Given the description of an element on the screen output the (x, y) to click on. 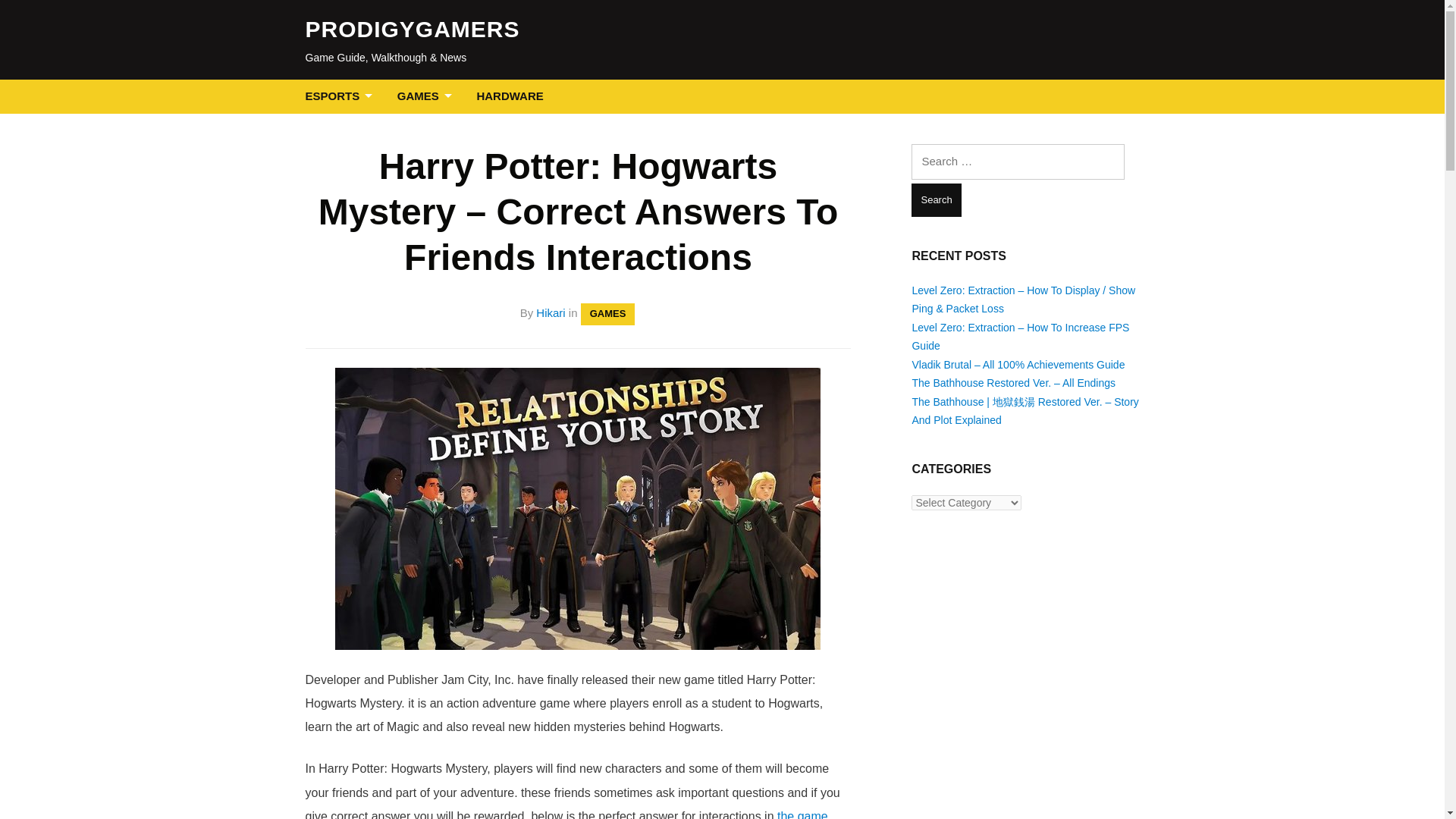
Posts by Hikari (549, 312)
GAMES (427, 96)
the game (802, 814)
Search (935, 200)
Search (935, 200)
HARDWARE (509, 96)
GAMES (607, 314)
Hikari (549, 312)
PRODIGYGAMERS (411, 28)
ESPORTS (341, 96)
